Given the description of an element on the screen output the (x, y) to click on. 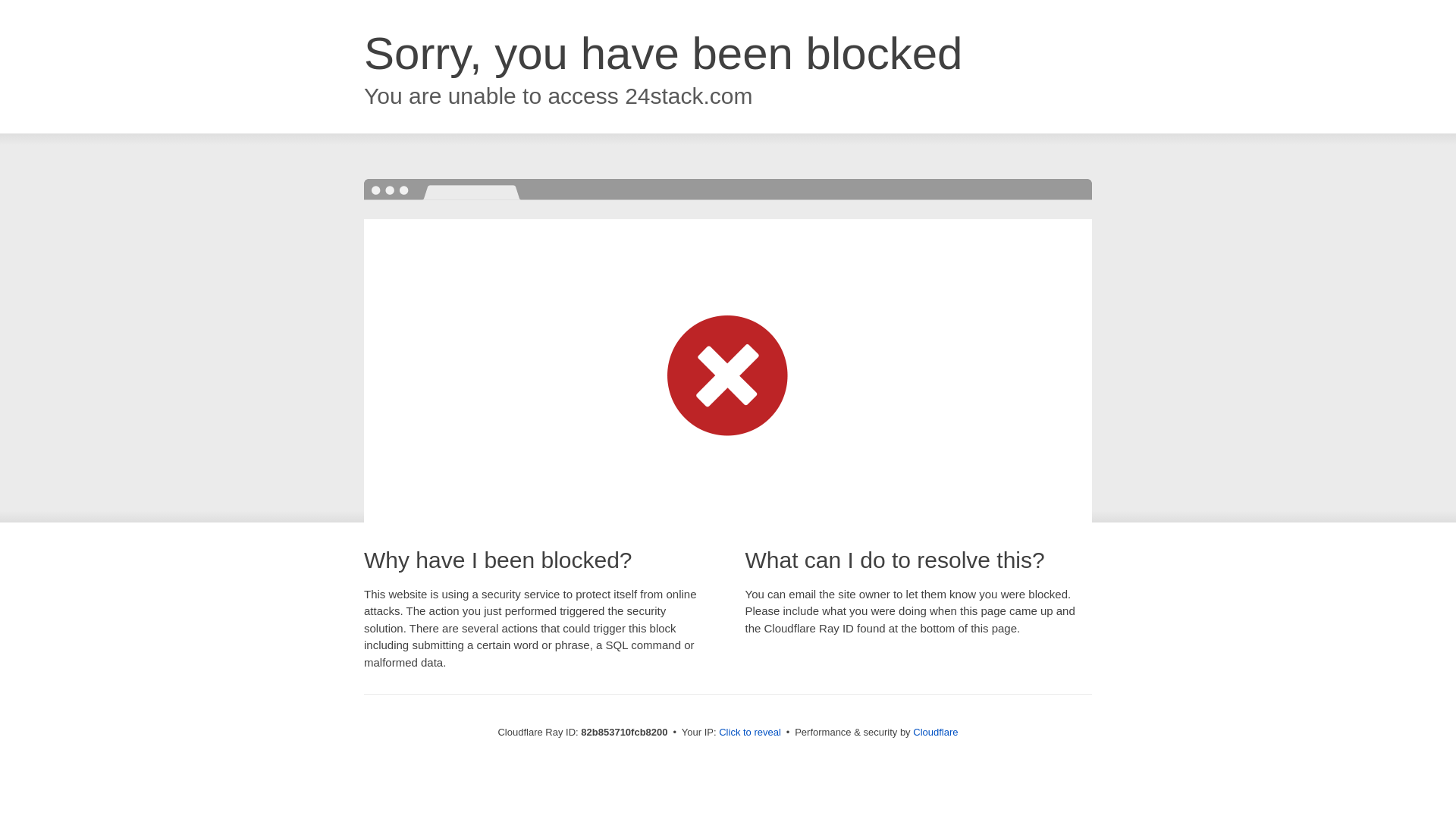
Cloudflare Element type: text (935, 731)
Click to reveal Element type: text (749, 732)
